Given the description of an element on the screen output the (x, y) to click on. 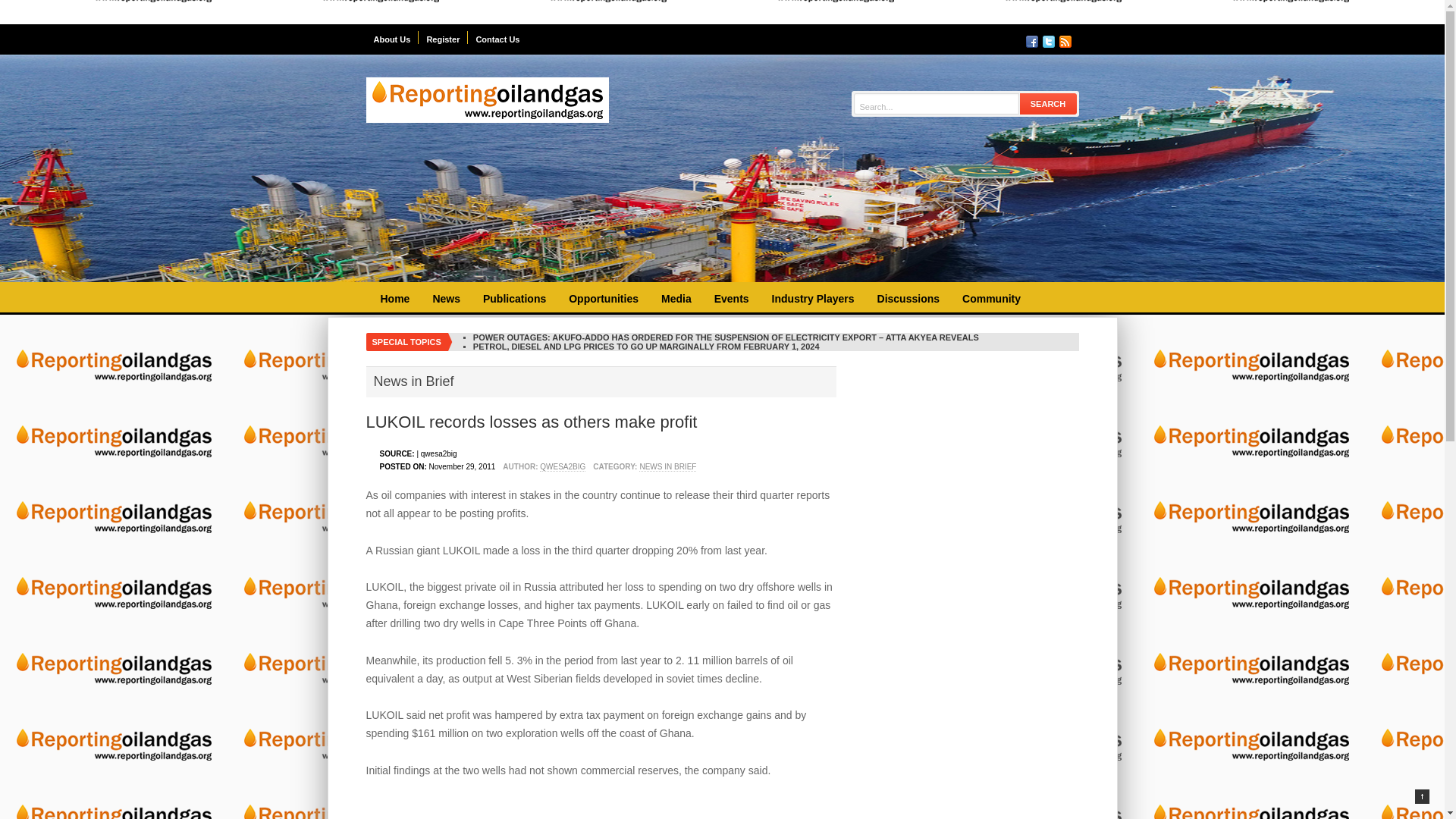
Contact Us (497, 37)
Community (991, 298)
Search (1047, 103)
Scroll to top (1422, 796)
Discussions (908, 298)
Register (442, 37)
Facebook (1030, 41)
Search (1047, 103)
Industry Players (813, 298)
News (445, 298)
NEWS IN BRIEF (667, 466)
Publications (514, 298)
RSS (1064, 41)
